Given the description of an element on the screen output the (x, y) to click on. 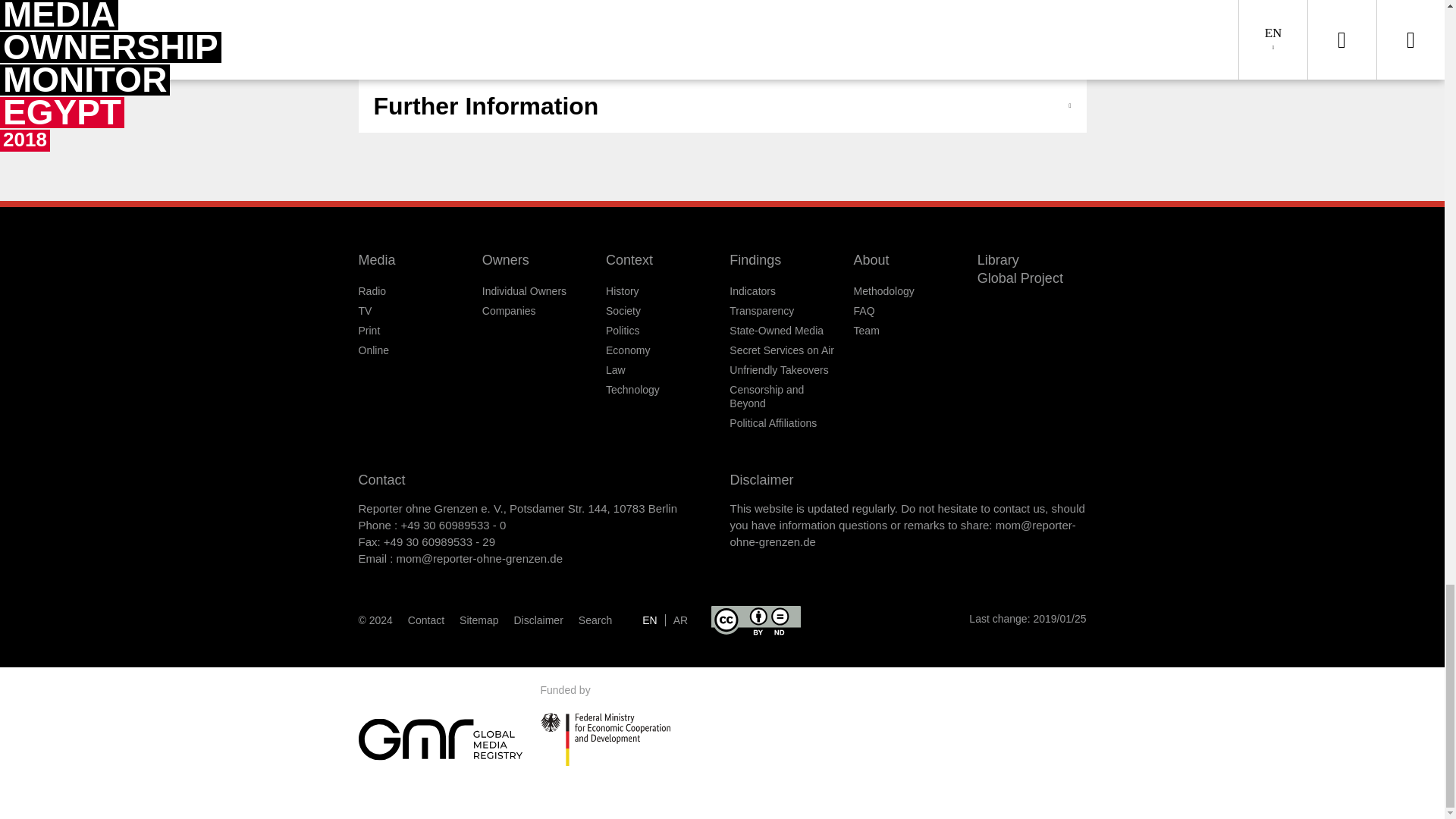
Law (615, 369)
Companies (508, 310)
Findings (754, 259)
Society (622, 310)
Federal Ministry for Economic Cooperation and Development (631, 739)
Online (373, 349)
Politics (622, 330)
Context (628, 259)
Federal Ministry for Economic Cooperation and Development (604, 738)
Indicators (752, 291)
Economy (627, 349)
Owners (505, 259)
Individual Owners (523, 291)
Media (376, 259)
Radio (371, 291)
